Given the description of an element on the screen output the (x, y) to click on. 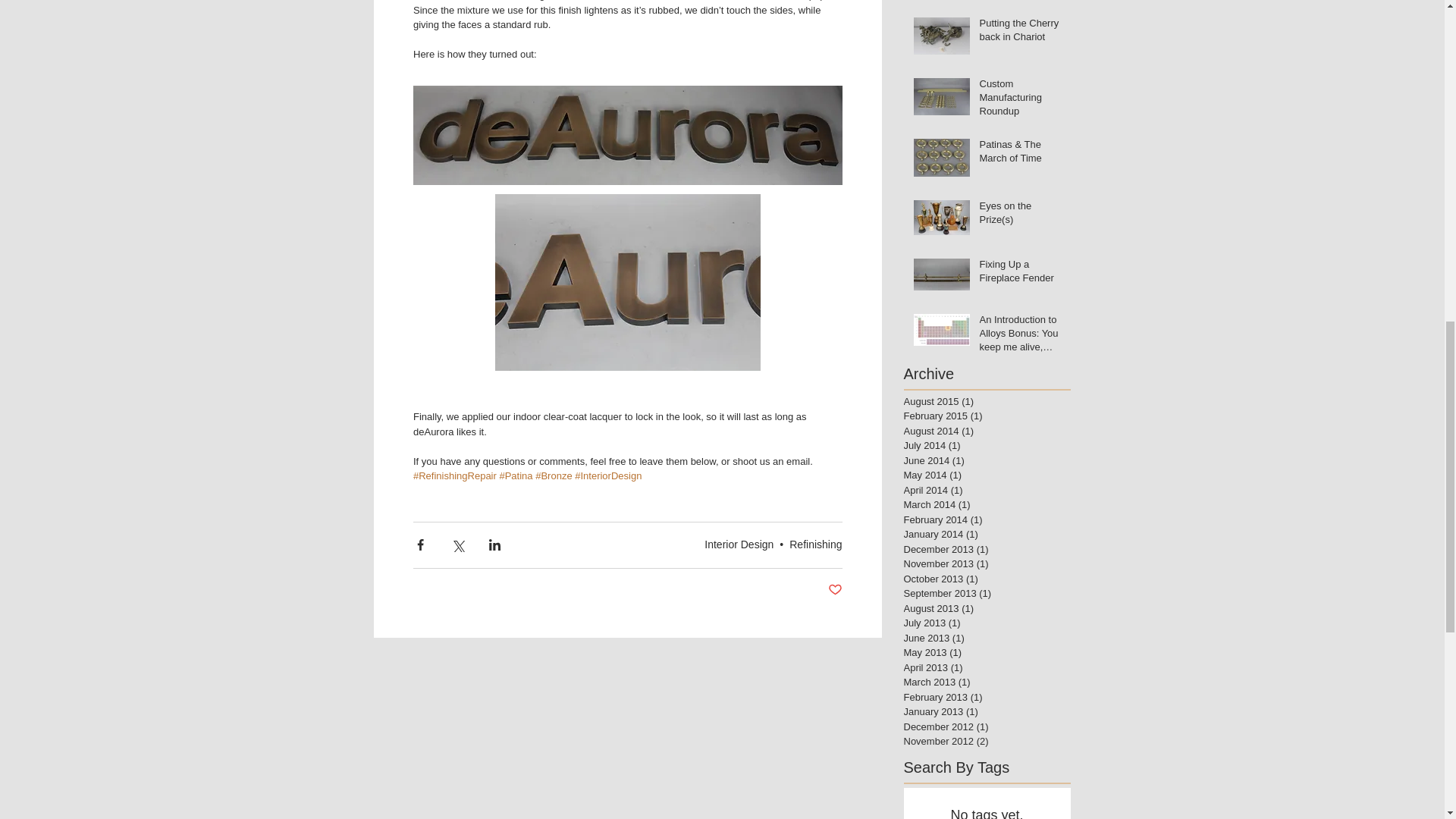
Post not marked as liked (835, 590)
Refinishing (815, 544)
Putting the Cherry back in Chariot (1020, 32)
Custom Manufacturing Roundup (1020, 100)
An Introduction to Alloys Bonus: You keep me alive, copper! (1020, 336)
Fixing Up a Fireplace Fender (1020, 274)
Interior Design (738, 544)
Third Place Prize - A Bunch of Pennies (1020, 2)
